Given the description of an element on the screen output the (x, y) to click on. 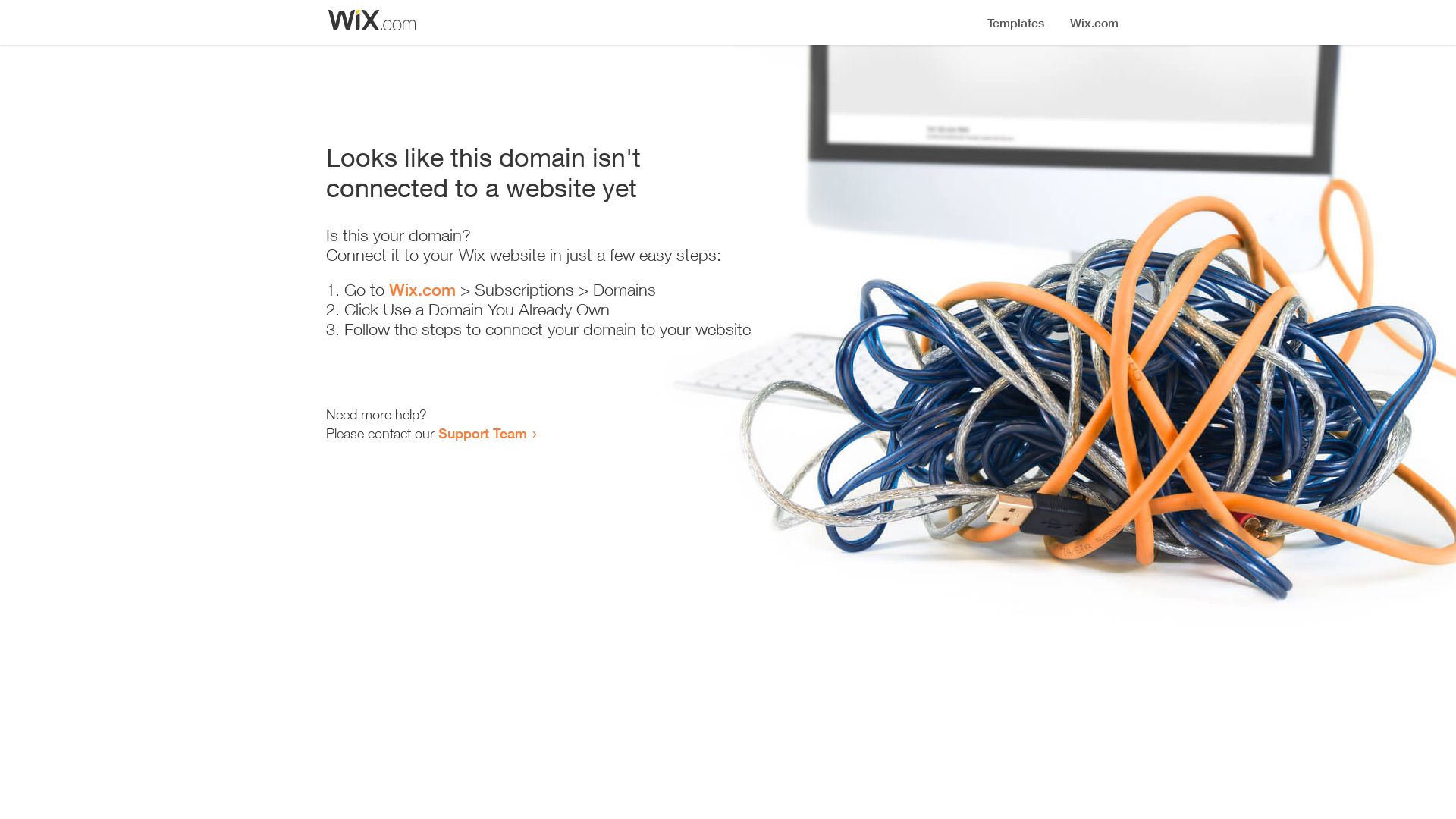
Support Team Element type: text (482, 432)
Wix.com Element type: text (422, 289)
